Given the description of an element on the screen output the (x, y) to click on. 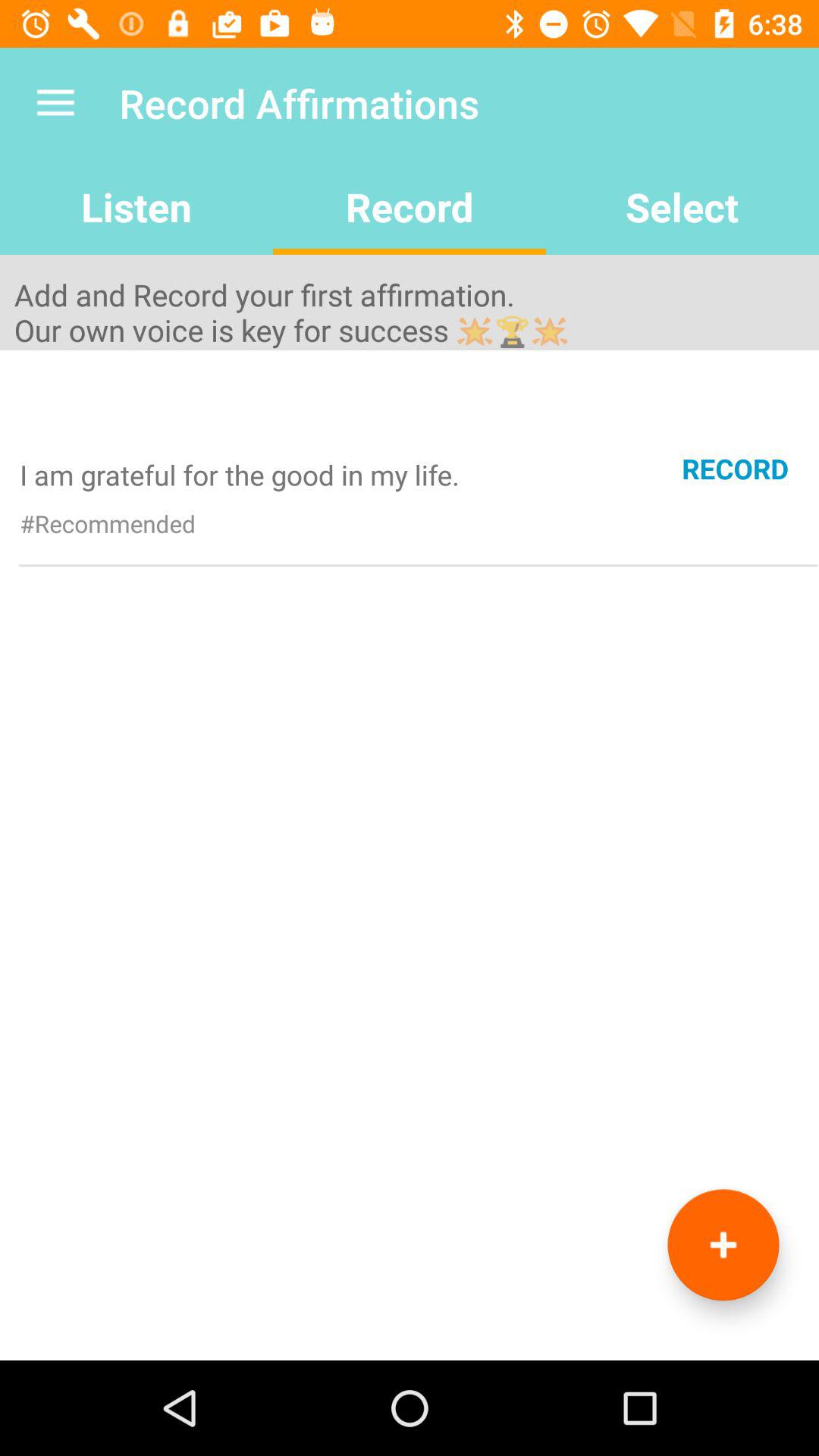
add record option (723, 1244)
